Given the description of an element on the screen output the (x, y) to click on. 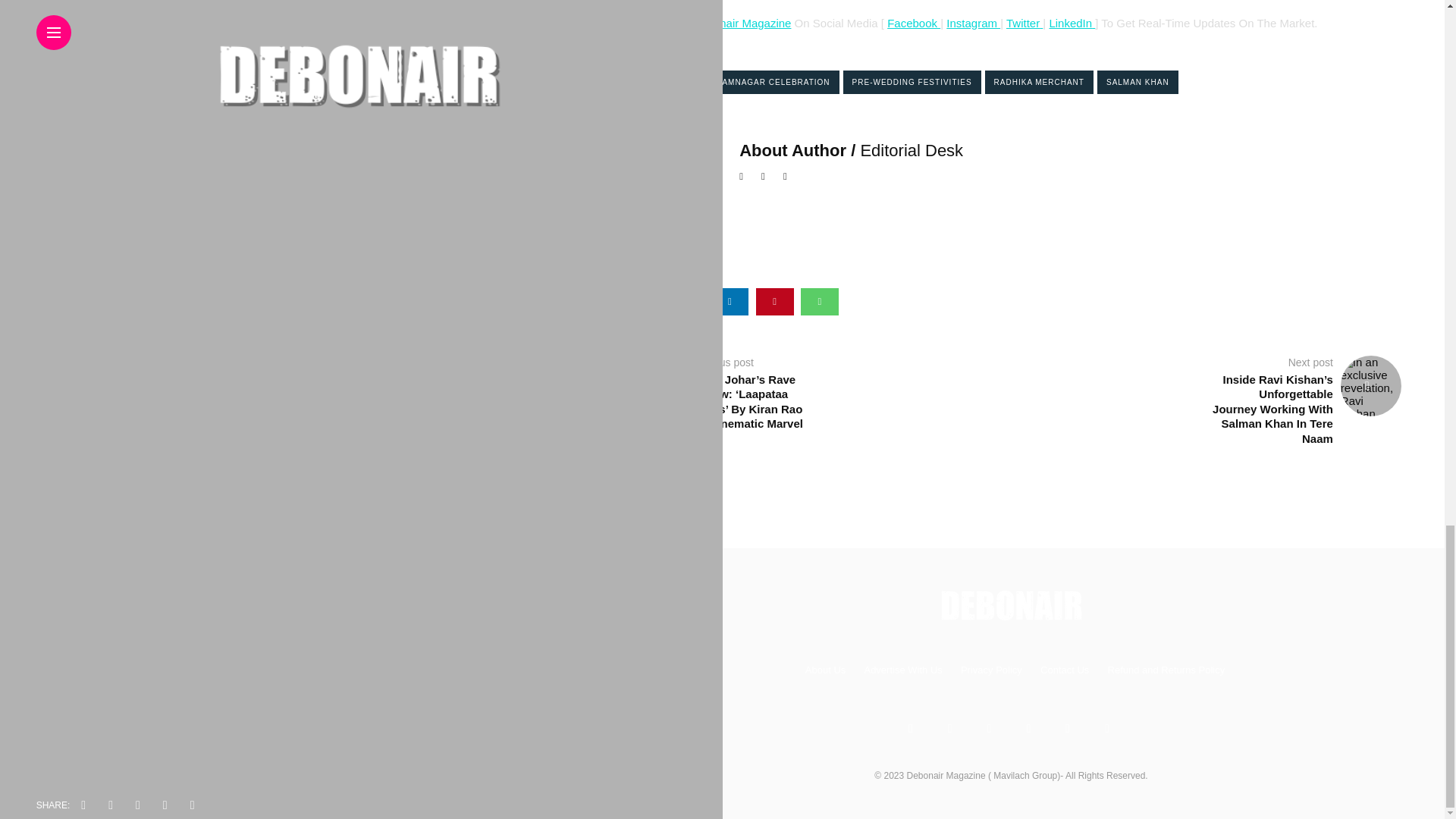
Instagram  (973, 22)
facebook (640, 301)
Posts by Editorial Desk (911, 149)
Facebook  (913, 22)
ANANT AMBANI (662, 82)
Twitter (1022, 22)
Debonair Magazine (741, 22)
JAMNAGAR CELEBRATION (772, 82)
LinkedIn (1070, 22)
